Given the description of an element on the screen output the (x, y) to click on. 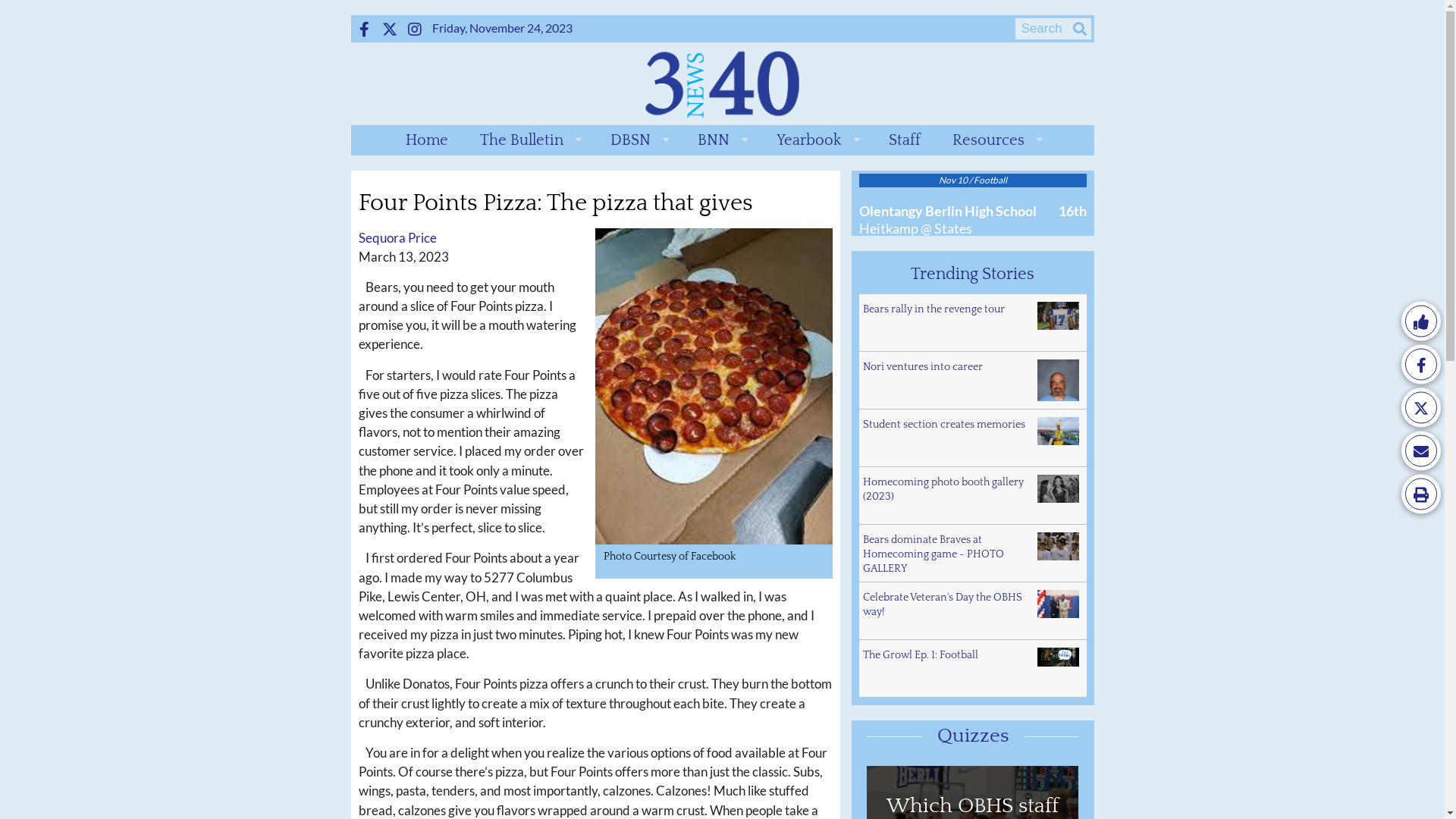
Home Element type: text (425, 140)
Bears dominate Braves at Homecoming game - PHOTO GALLERY Element type: text (971, 552)
Bears rally in the revenge tour Element type: text (971, 322)
Sequora Price Element type: text (396, 236)
The Bulletin Element type: text (528, 140)
Nori ventures into career Element type: text (971, 379)
Share on X Element type: text (1420, 407)
Resources Element type: text (995, 140)
Homecoming photo booth gallery (2023) Element type: text (971, 495)
Staff Element type: text (904, 140)
Yearbook Element type: text (816, 140)
The Growl Ep. 1: Football Element type: text (971, 668)
Quizzes Element type: text (972, 735)
BNN Element type: text (720, 140)
Submit Search Element type: text (1079, 27)
Print Element type: text (1420, 494)
Share via Email Element type: text (1420, 450)
DBSN Element type: text (637, 140)
Share on Facebook Element type: text (1420, 363)
Celebrate Veteran's Day the OBHS way! Element type: text (971, 610)
Search Element type: text (17, 7)
Student section creates memories Element type: text (971, 437)
